Given the description of an element on the screen output the (x, y) to click on. 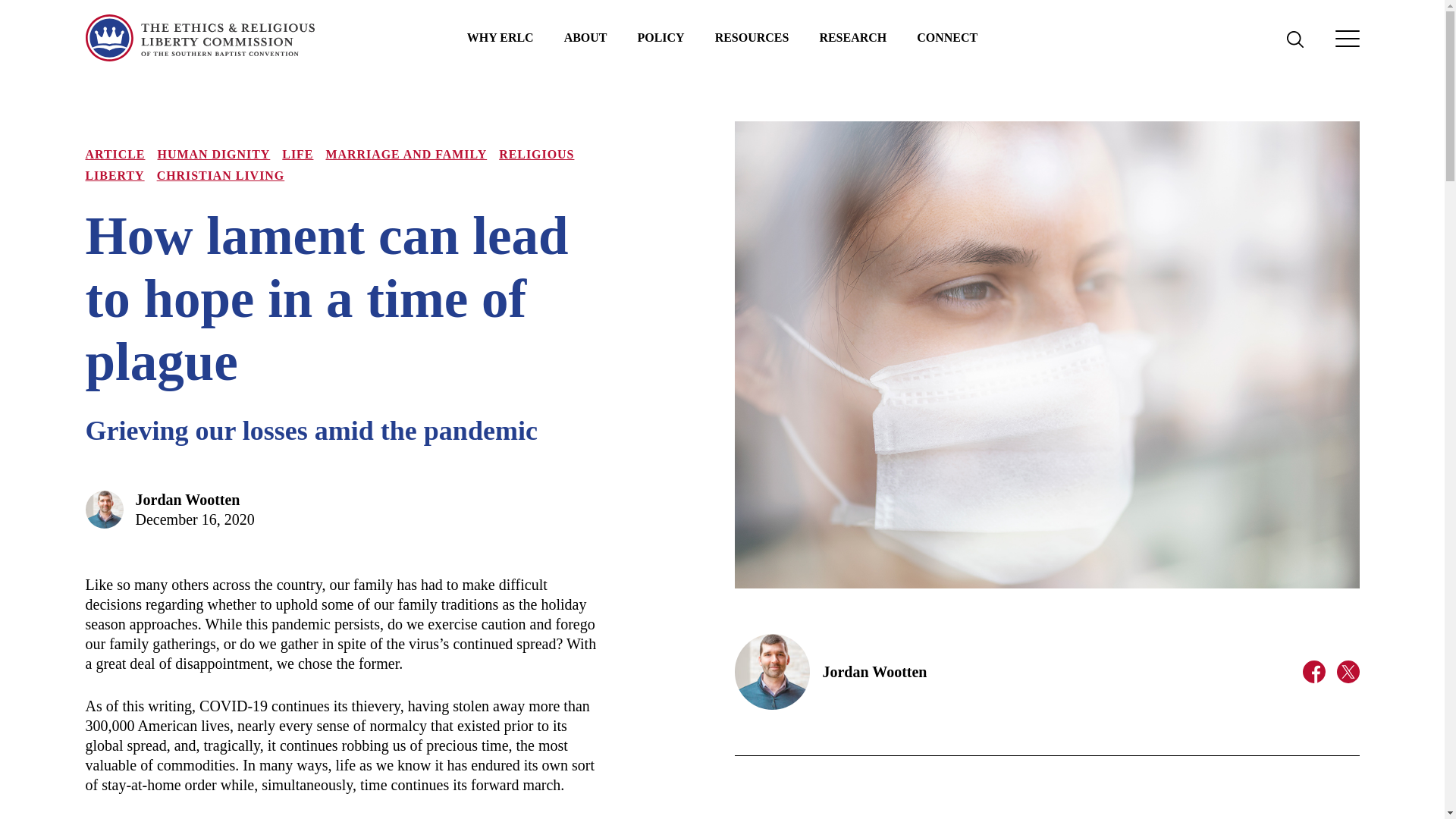
Why ERLC (500, 38)
POLICY (660, 38)
Connect (946, 38)
MARRIAGE AND FAMILY (405, 154)
ARTICLE (114, 154)
Research (852, 38)
Jordan Wootten (187, 499)
RELIGIOUS LIBERTY (328, 164)
HUMAN DIGNITY (213, 154)
Home (199, 38)
RESEARCH (852, 38)
ABOUT (585, 38)
About (585, 38)
LIFE (297, 154)
CHRISTIAN LIVING (221, 174)
